Given the description of an element on the screen output the (x, y) to click on. 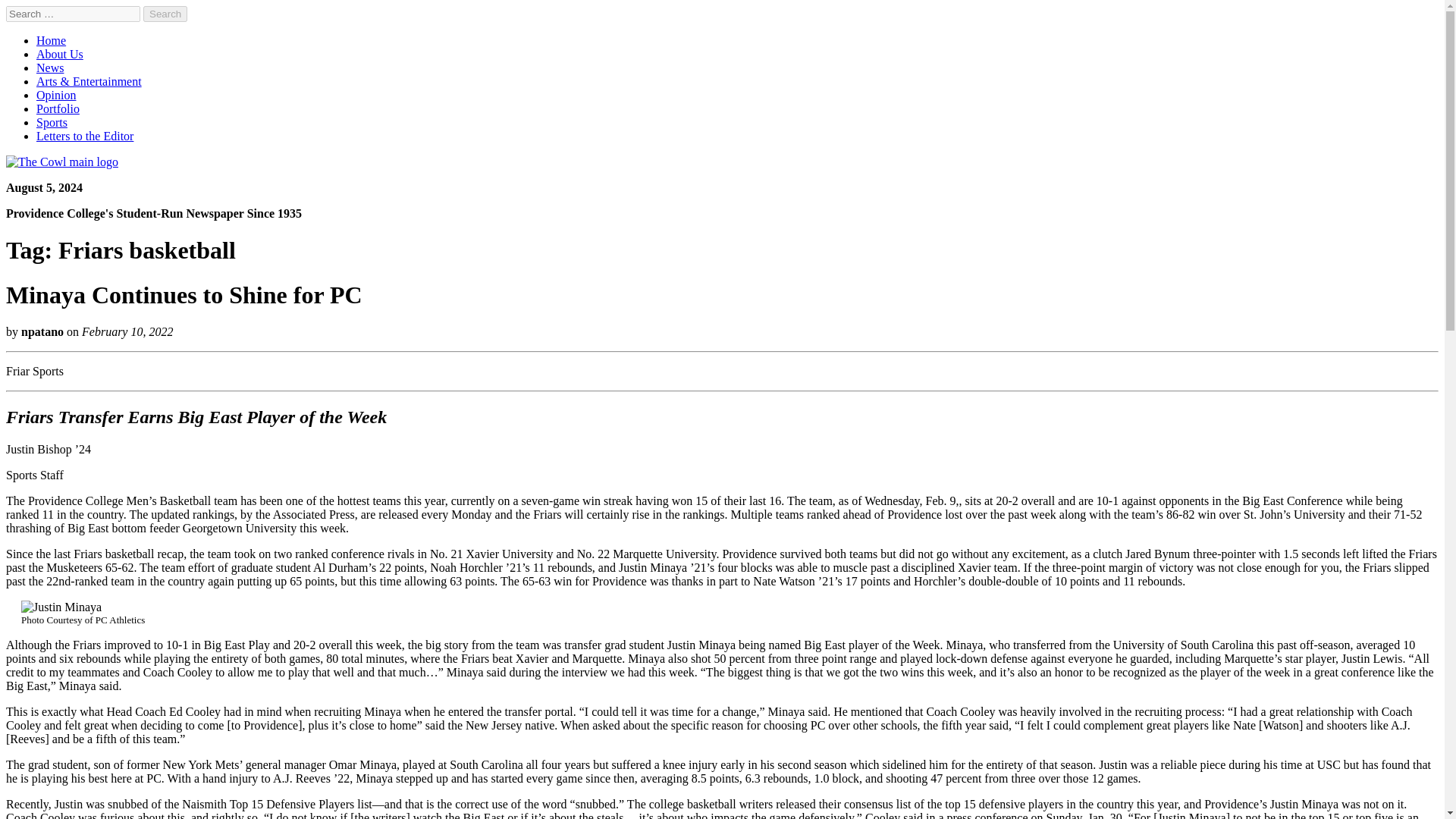
Search (164, 13)
News (50, 67)
Portfolio (58, 108)
About Us (59, 53)
Sports (51, 122)
Letters to the Editor (84, 135)
Search (164, 13)
Home (50, 40)
Search (164, 13)
Opinion (55, 94)
